Given the description of an element on the screen output the (x, y) to click on. 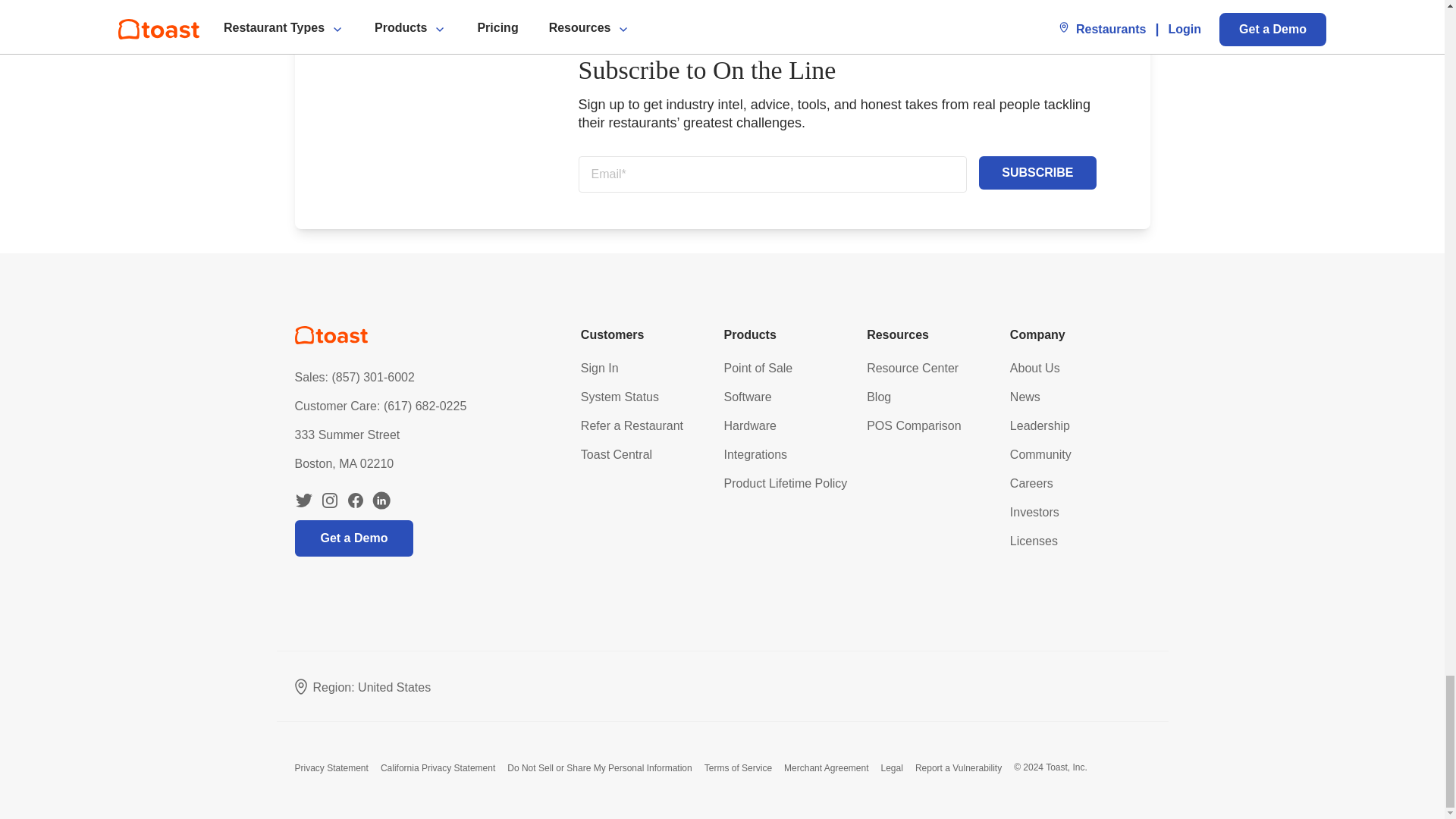
Toast on Twitter (303, 500)
Toast on Instagram (328, 500)
Toast on Facebook (355, 500)
Toast on LinkedIn (380, 500)
